Given the description of an element on the screen output the (x, y) to click on. 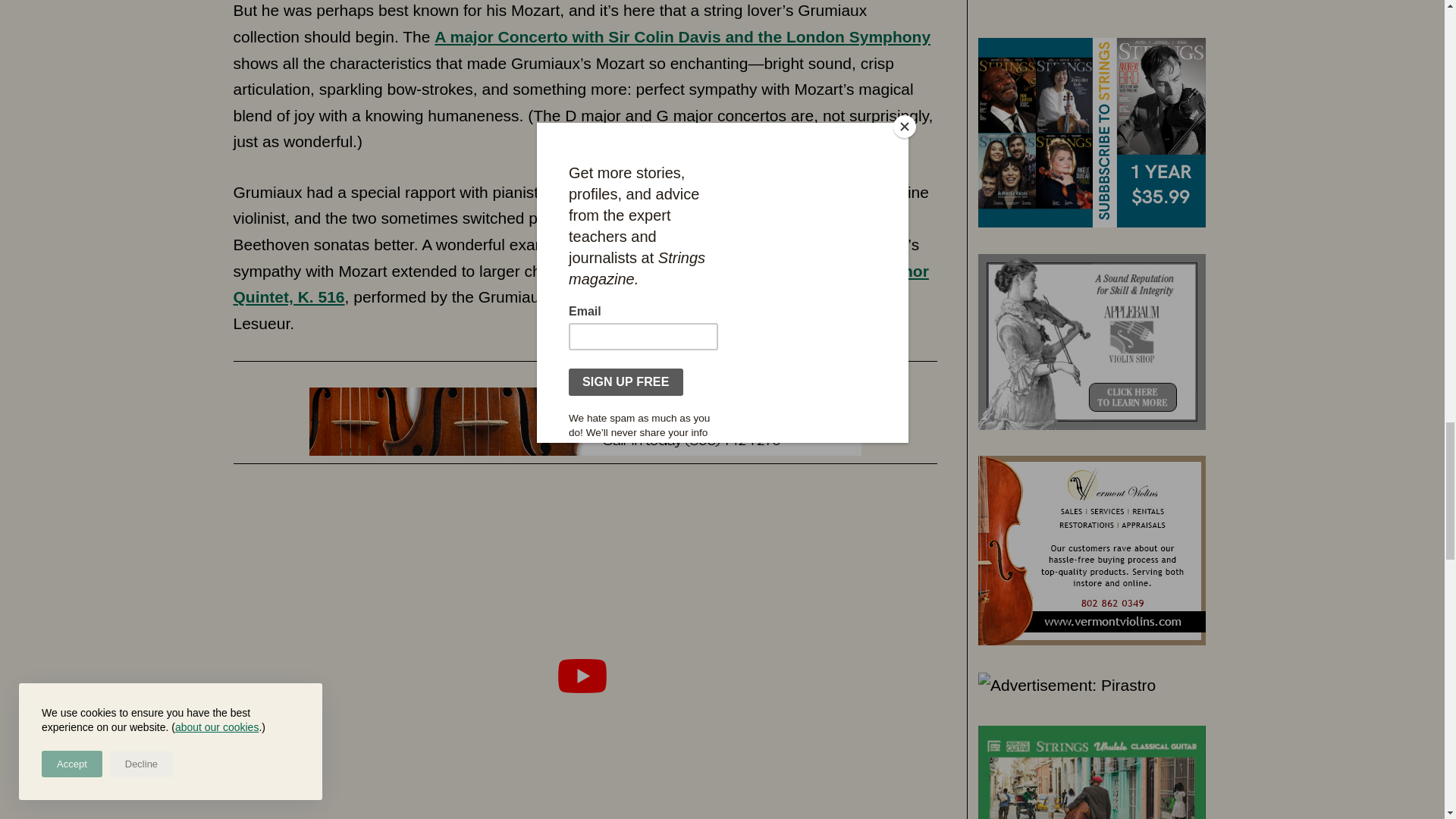
Advertisement: Shar Music (584, 421)
